Given the description of an element on the screen output the (x, y) to click on. 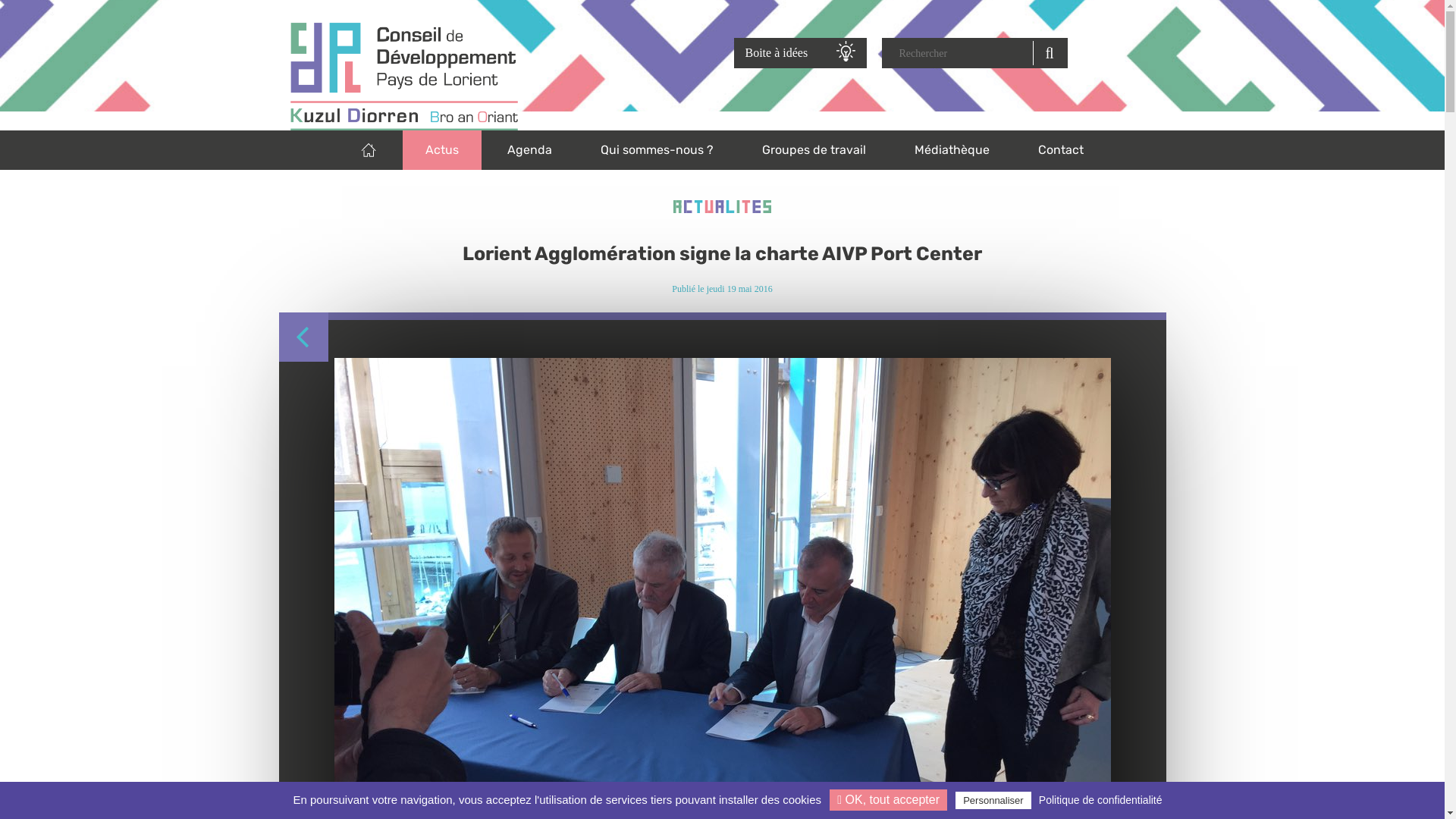
Accueil Element type: hover (499, 76)
Qui sommes-nous ? Element type: text (656, 150)
Entrer votre recherche ici Element type: hover (961, 52)
Contact Element type: text (1060, 150)
Personnaliser Element type: text (993, 800)
Groupes de travail Element type: text (813, 150)
Agenda Element type: text (529, 150)
Actus Element type: text (441, 150)
